Given the description of an element on the screen output the (x, y) to click on. 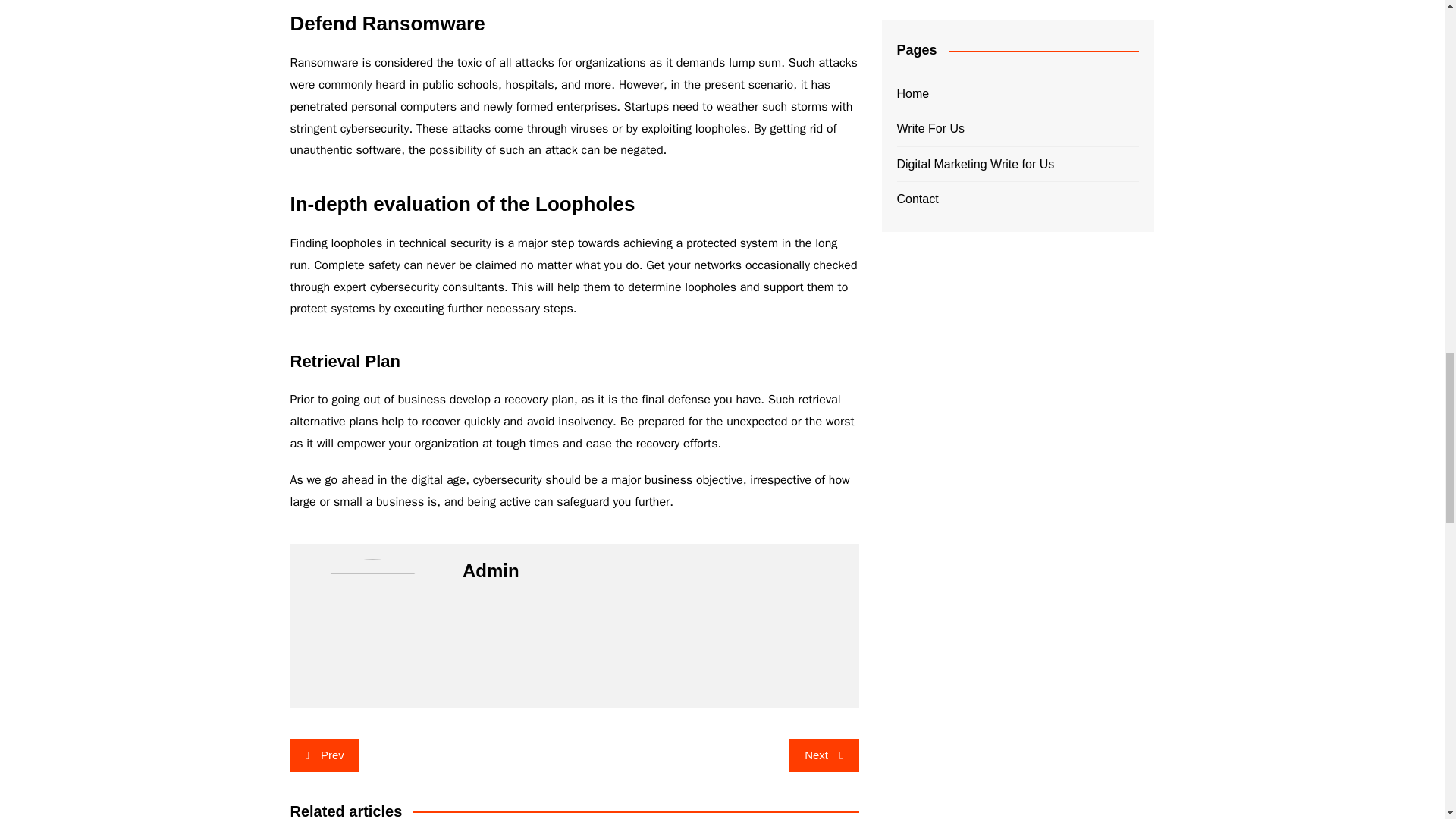
Next (824, 755)
Prev (323, 755)
